Given the description of an element on the screen output the (x, y) to click on. 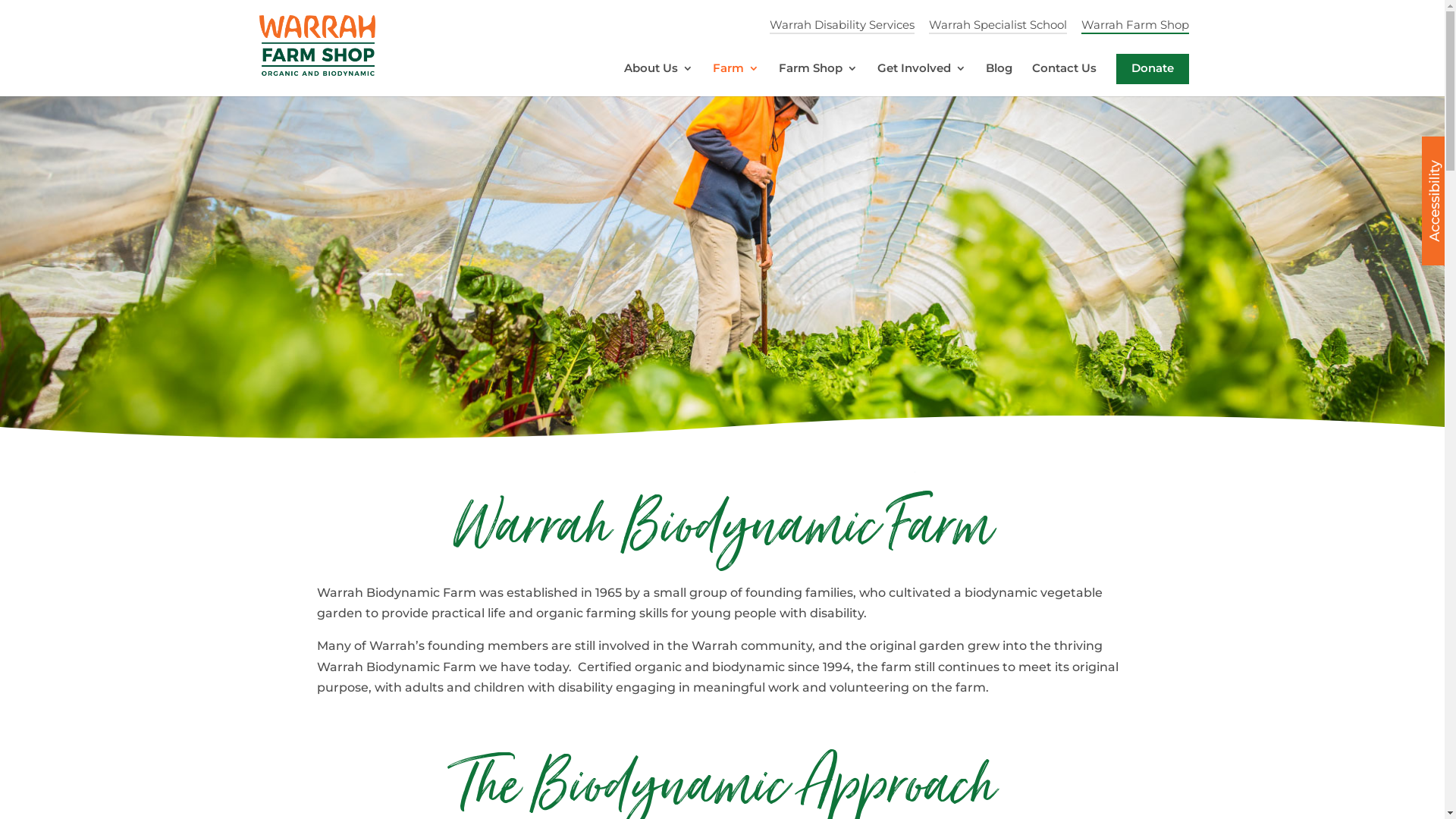
Donate Element type: text (1152, 68)
Farm Element type: text (735, 79)
Farm Shop Element type: text (817, 79)
Warrah Disability Services Element type: text (840, 26)
Contact Us Element type: text (1063, 79)
About Us Element type: text (657, 79)
Blog Element type: text (998, 79)
Warrah Specialist School Element type: text (997, 26)
Get Involved Element type: text (920, 79)
Warrah Farm Shop Element type: text (1135, 26)
